Given the description of an element on the screen output the (x, y) to click on. 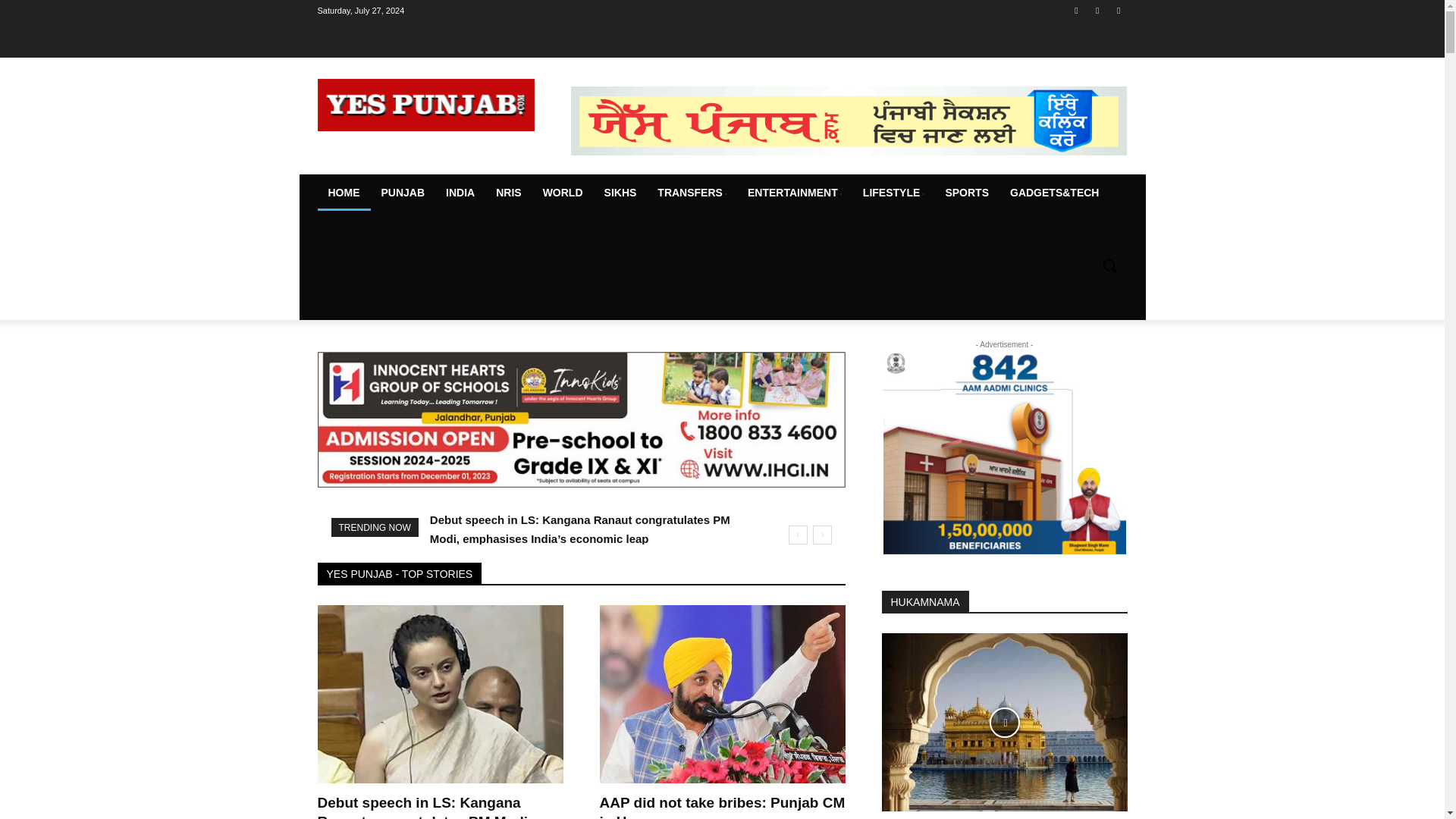
ENTERTAINMENT (793, 192)
HOME (343, 192)
NRIS (507, 192)
Instagram (1097, 9)
INDIA (459, 192)
PUNJAB (402, 192)
SIKHS (620, 192)
AAP did not take bribes: Punjab CM in Haryana (721, 693)
Facebook (1075, 9)
TRANSFERS (691, 192)
WORLD (563, 192)
Twitter (1117, 9)
